Given the description of an element on the screen output the (x, y) to click on. 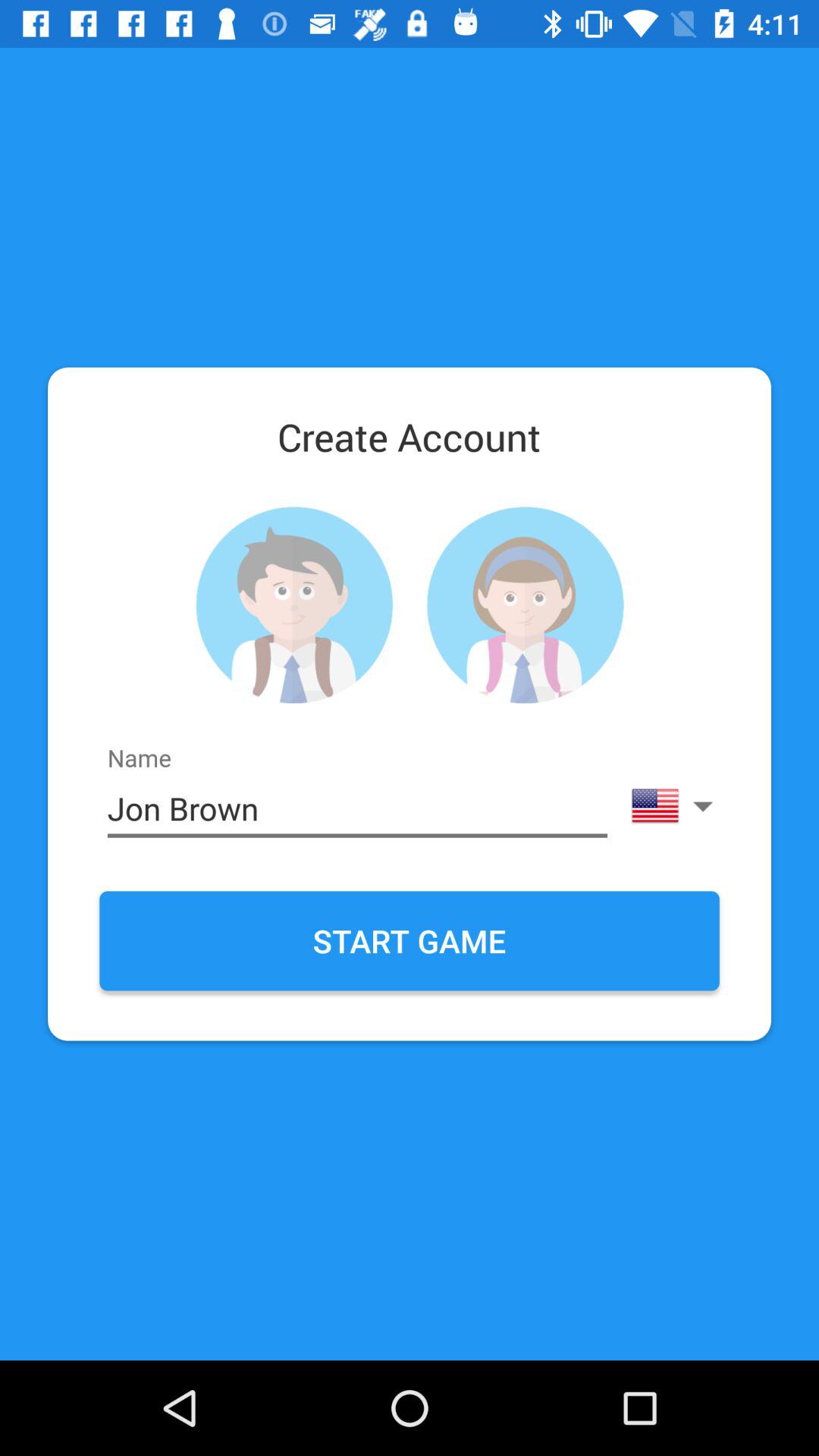
select female (524, 605)
